Given the description of an element on the screen output the (x, y) to click on. 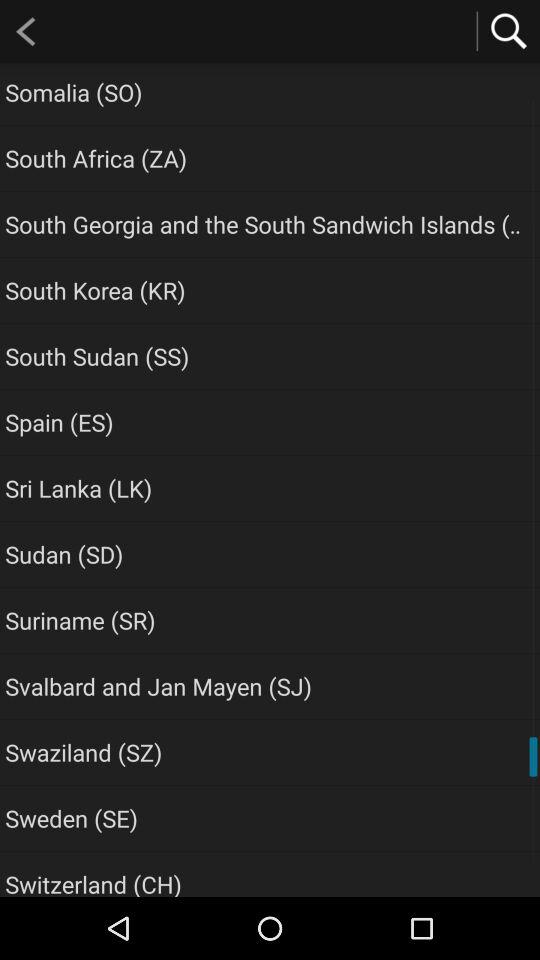
scroll to the sri lanka (lk) (78, 488)
